Given the description of an element on the screen output the (x, y) to click on. 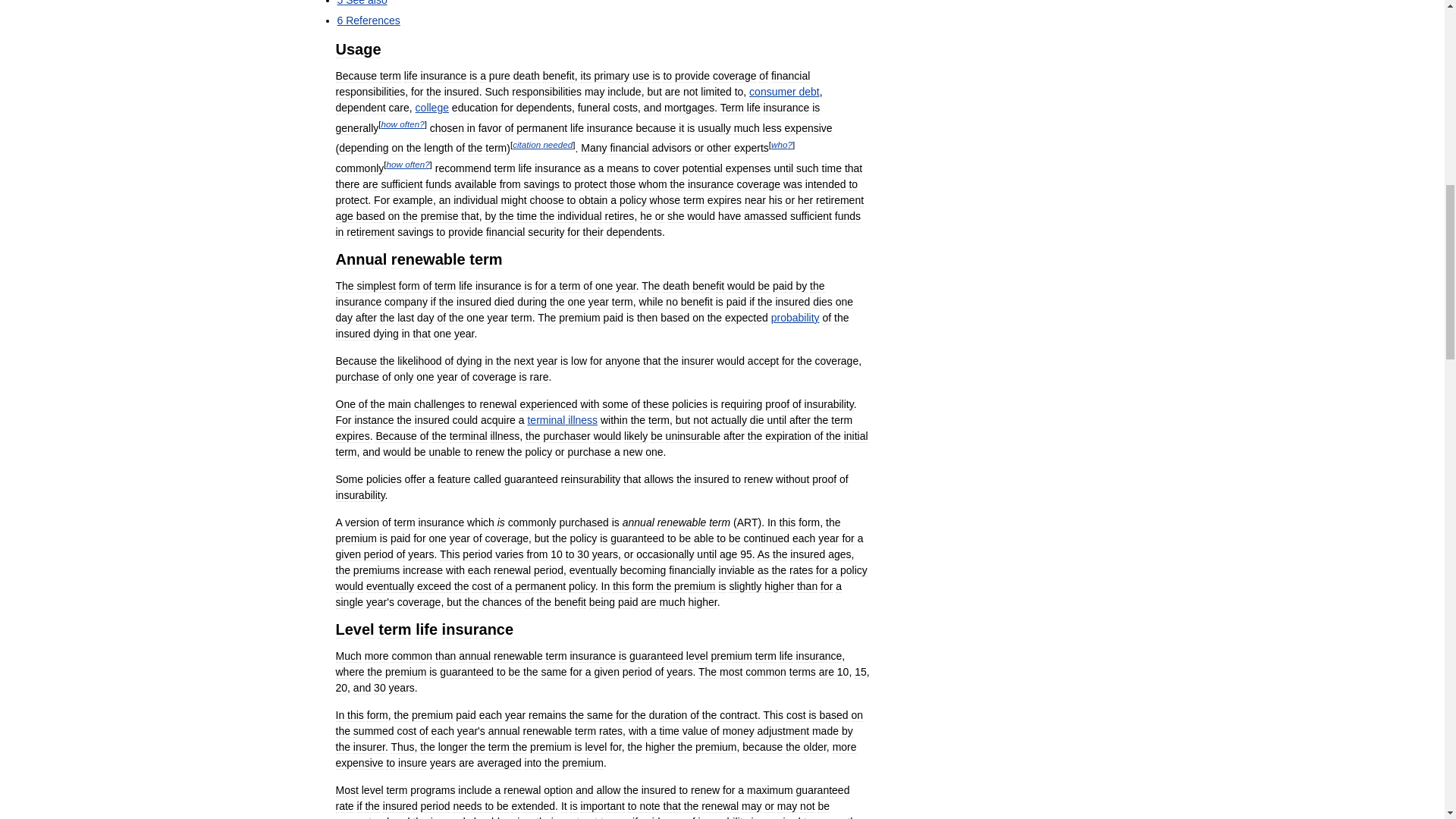
5 See also (361, 2)
